Given the description of an element on the screen output the (x, y) to click on. 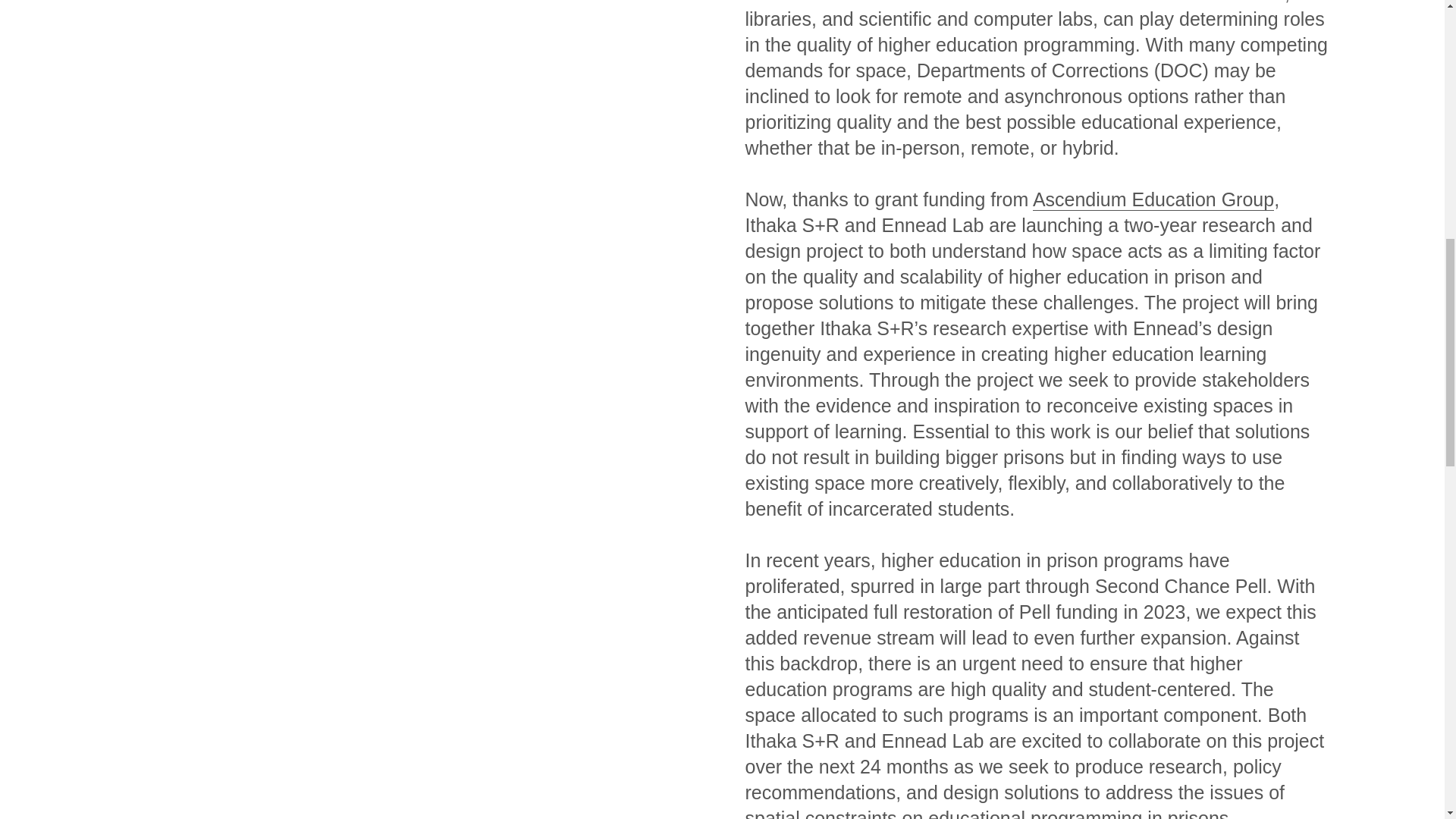
Ascendium Education Group (1153, 199)
